Given the description of an element on the screen output the (x, y) to click on. 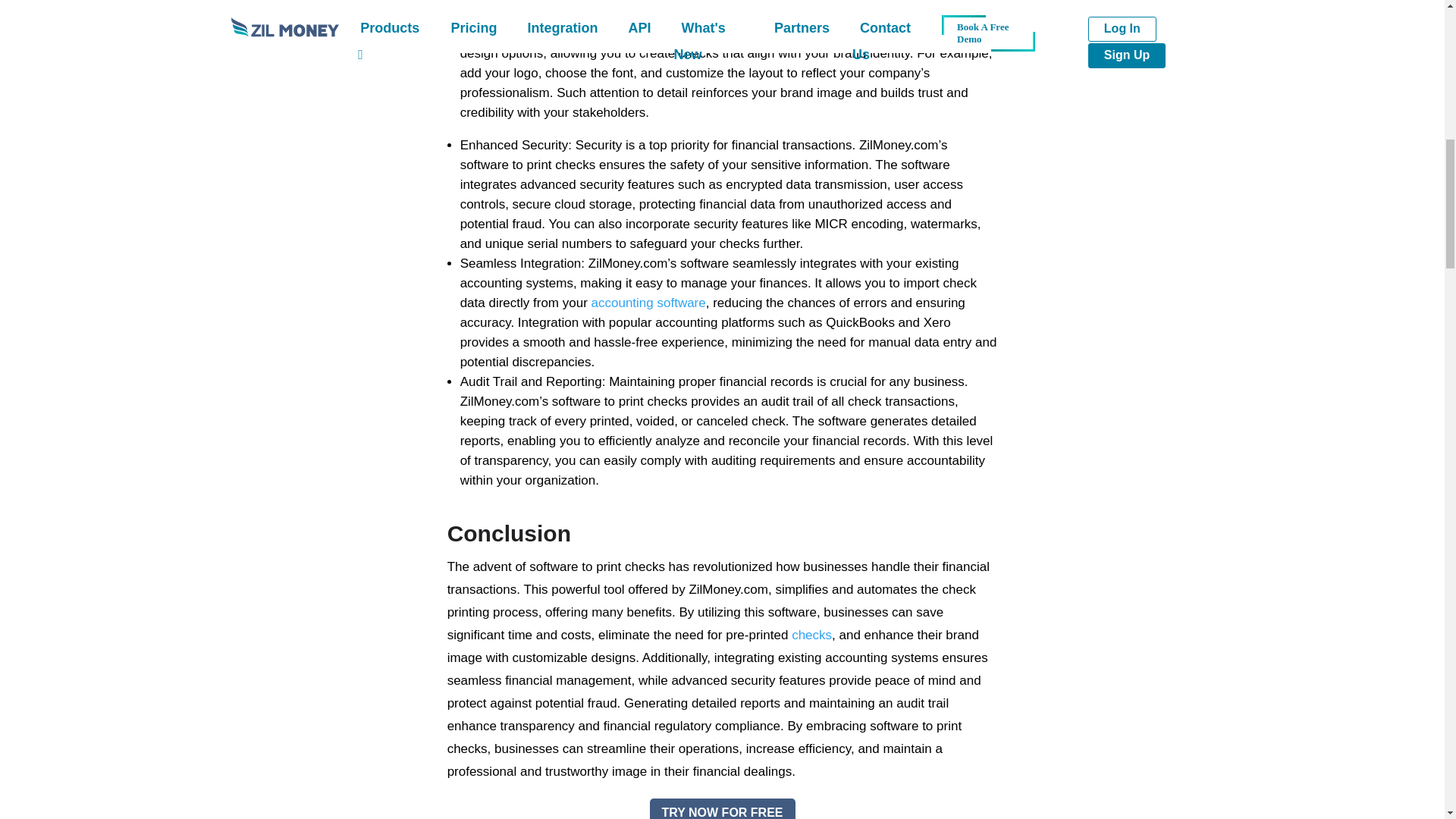
templates (939, 33)
accounting software (648, 302)
TRY NOW FOR FREE (721, 808)
checks (811, 635)
